Given the description of an element on the screen output the (x, y) to click on. 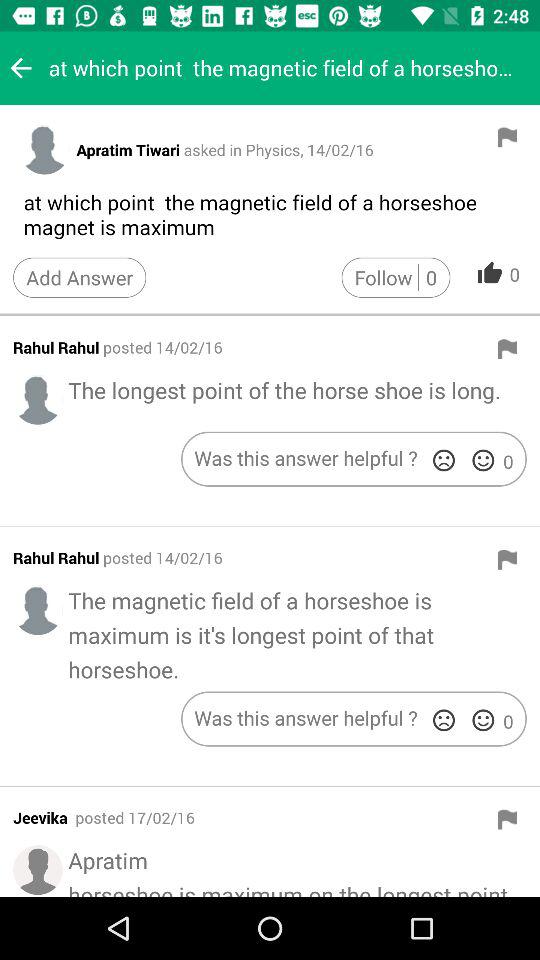
choose not helpful (443, 720)
